Given the description of an element on the screen output the (x, y) to click on. 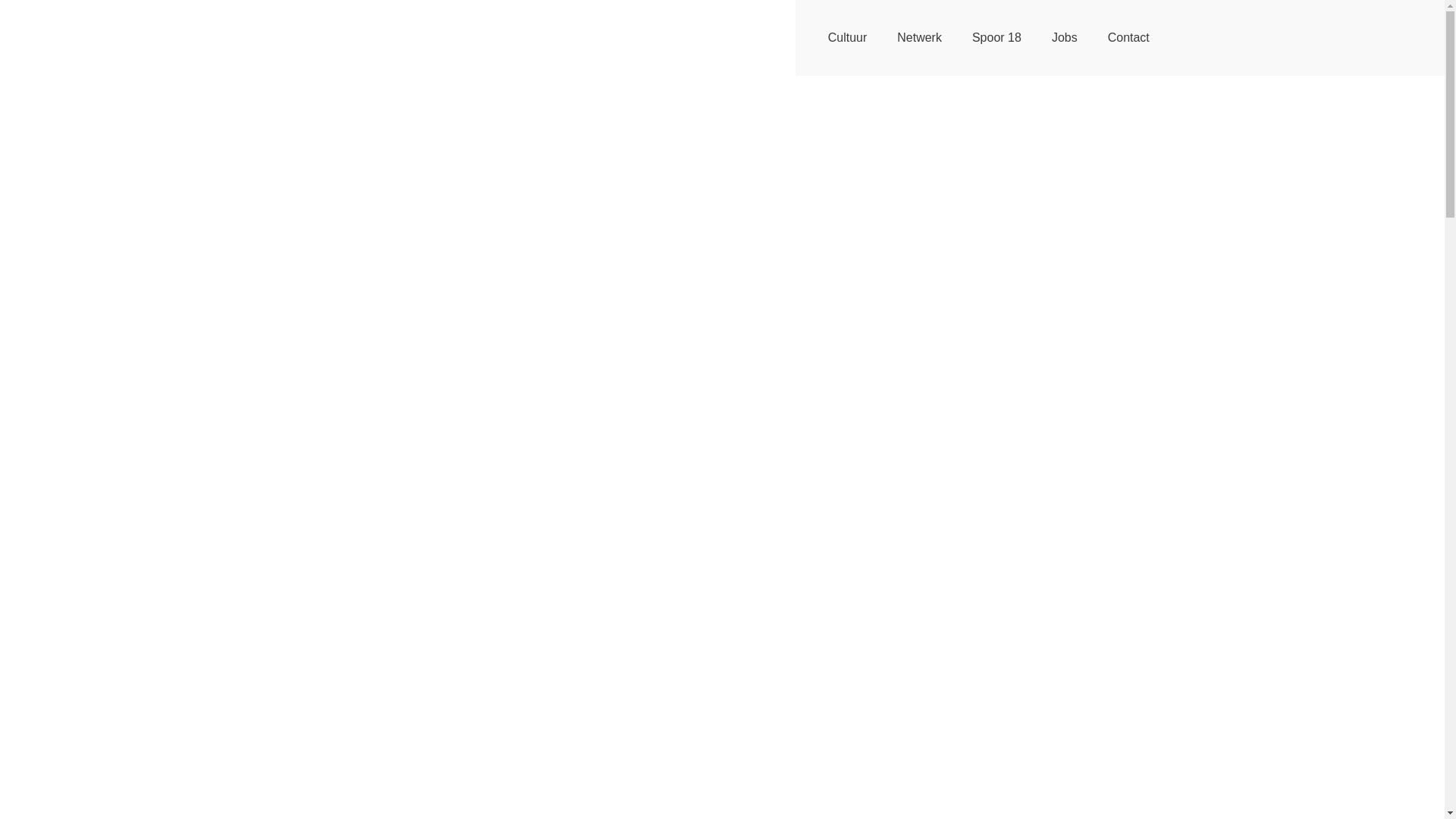
Contact Element type: text (1128, 37)
Jobs Element type: text (1064, 37)
Netwerk Element type: text (919, 37)
Cultuur Element type: text (847, 37)
Spoor 18 Element type: text (996, 37)
